Given the description of an element on the screen output the (x, y) to click on. 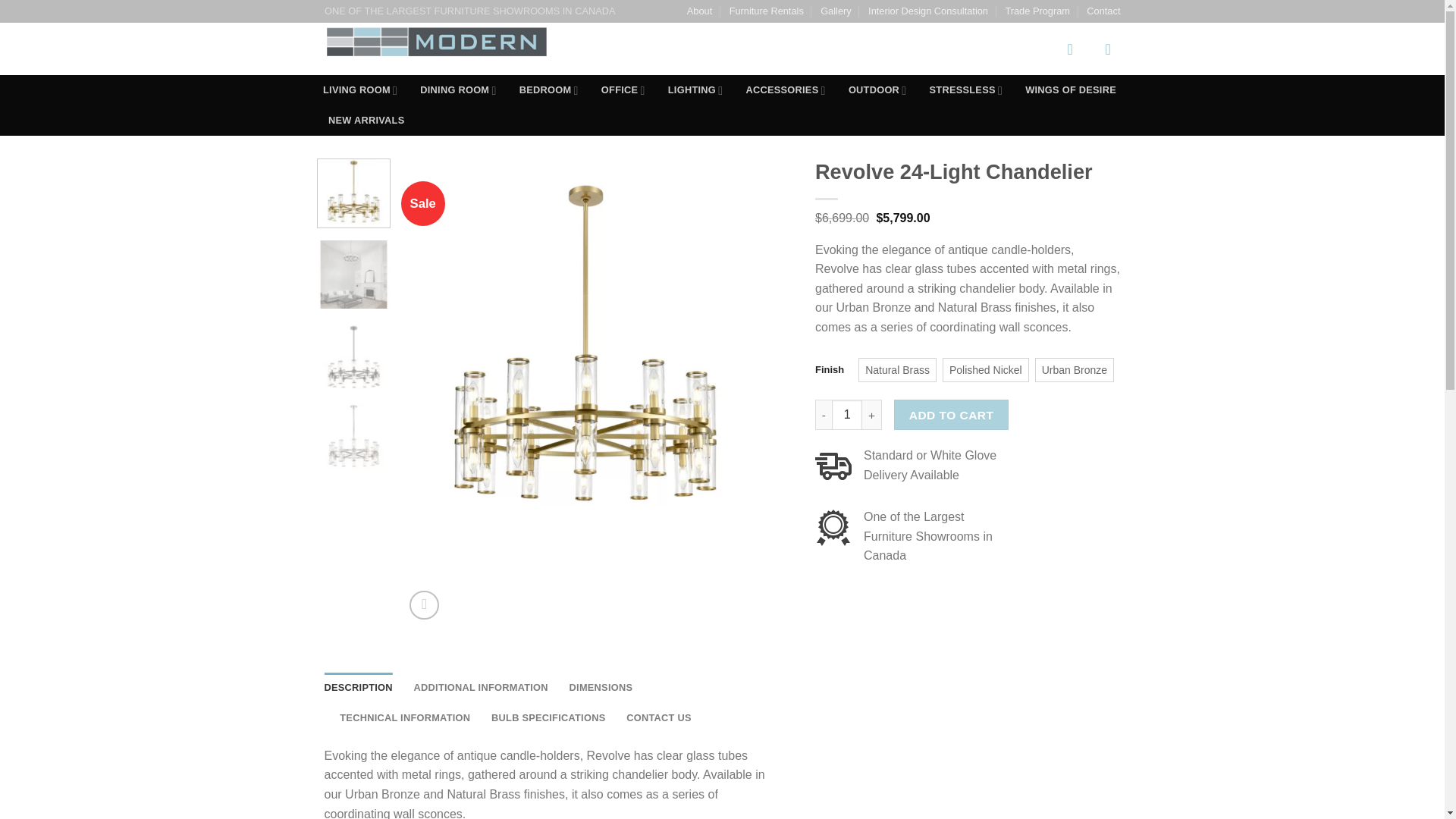
Gallery (836, 11)
Trade Program (1037, 11)
Zoom (424, 604)
Polished Nickel (985, 369)
Furniture Rentals (766, 11)
Search (1029, 49)
1 (846, 414)
VISIT OUR SHOWROOM (683, 48)
About (699, 11)
LIVING ROOM (359, 90)
Natural Brass (897, 369)
Contact (1102, 11)
Modern Sense Furniture - Best Modern Furniture Toronto (456, 48)
Urban Bronze (1074, 369)
Interior Design Consultation (927, 11)
